Given the description of an element on the screen output the (x, y) to click on. 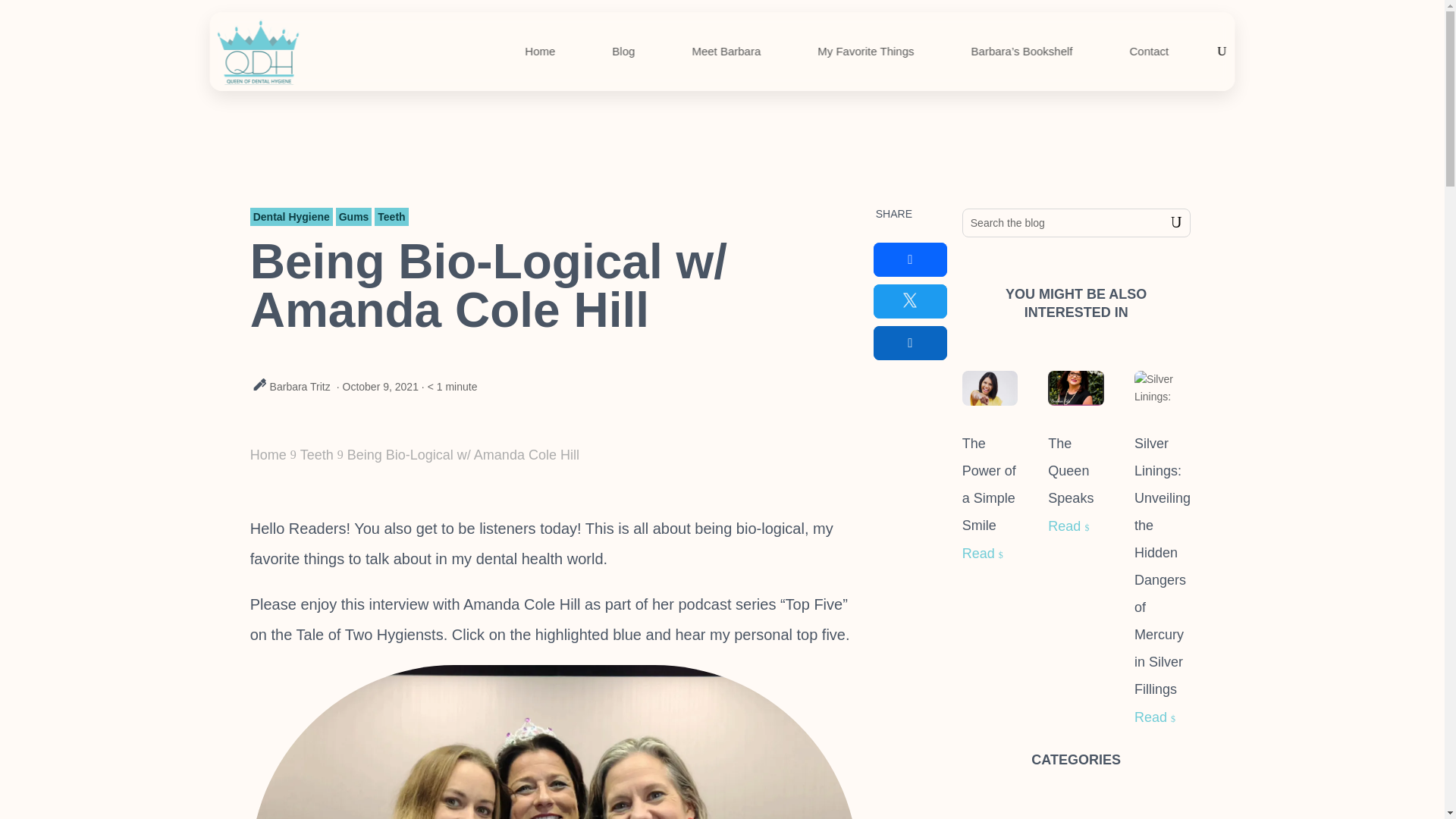
Teeth (316, 455)
Home (268, 455)
Dental Hygiene (291, 217)
Search (1164, 222)
Meet Barbara (725, 51)
Teeth (390, 217)
Gums (354, 217)
My Favorite Things (865, 51)
Search (1164, 222)
Search (1164, 222)
